Given the description of an element on the screen output the (x, y) to click on. 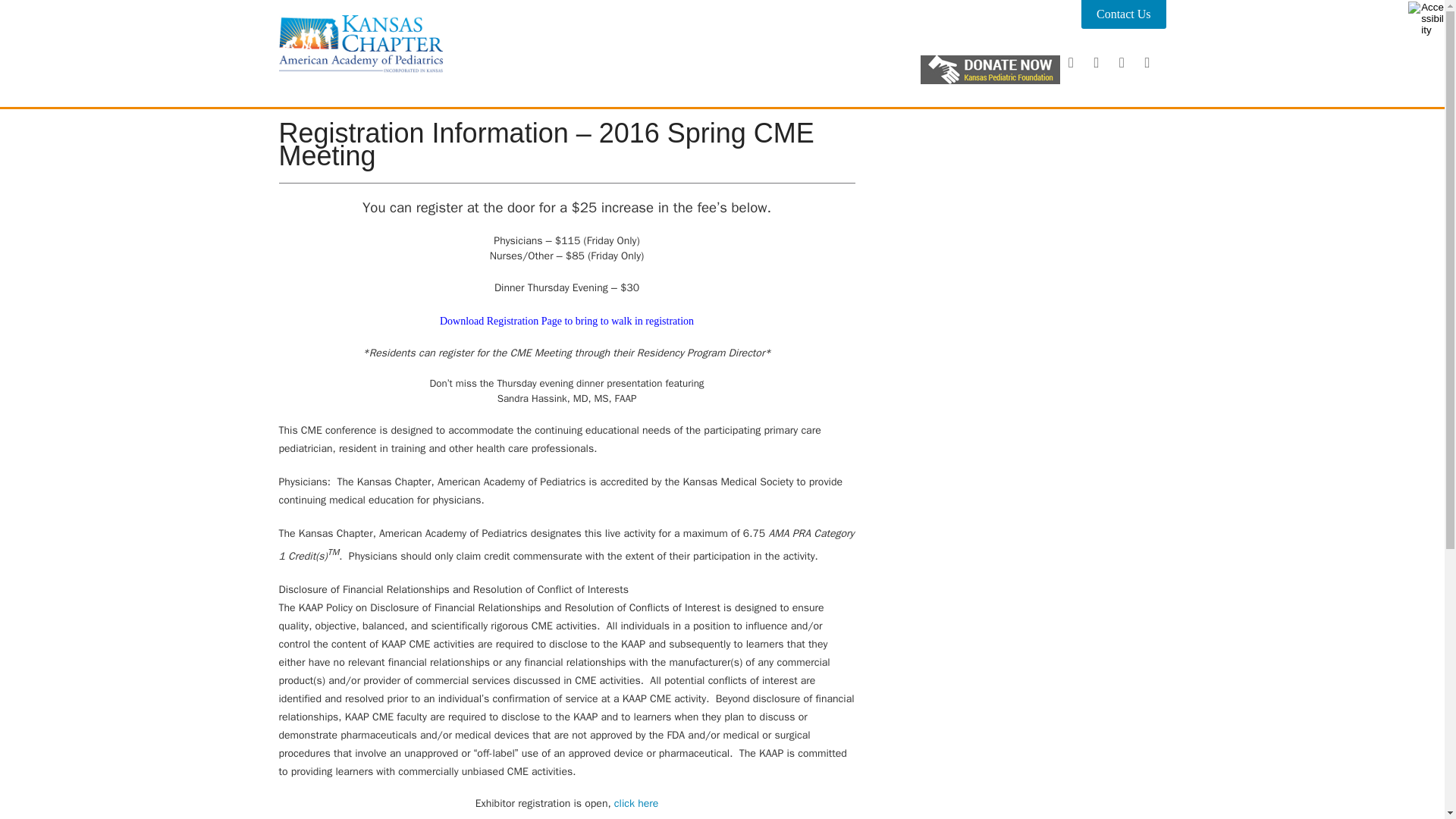
linkedin (1146, 62)
instagram (1096, 62)
Contact Us (1123, 14)
twitter (1120, 62)
facebook (1071, 62)
